Given the description of an element on the screen output the (x, y) to click on. 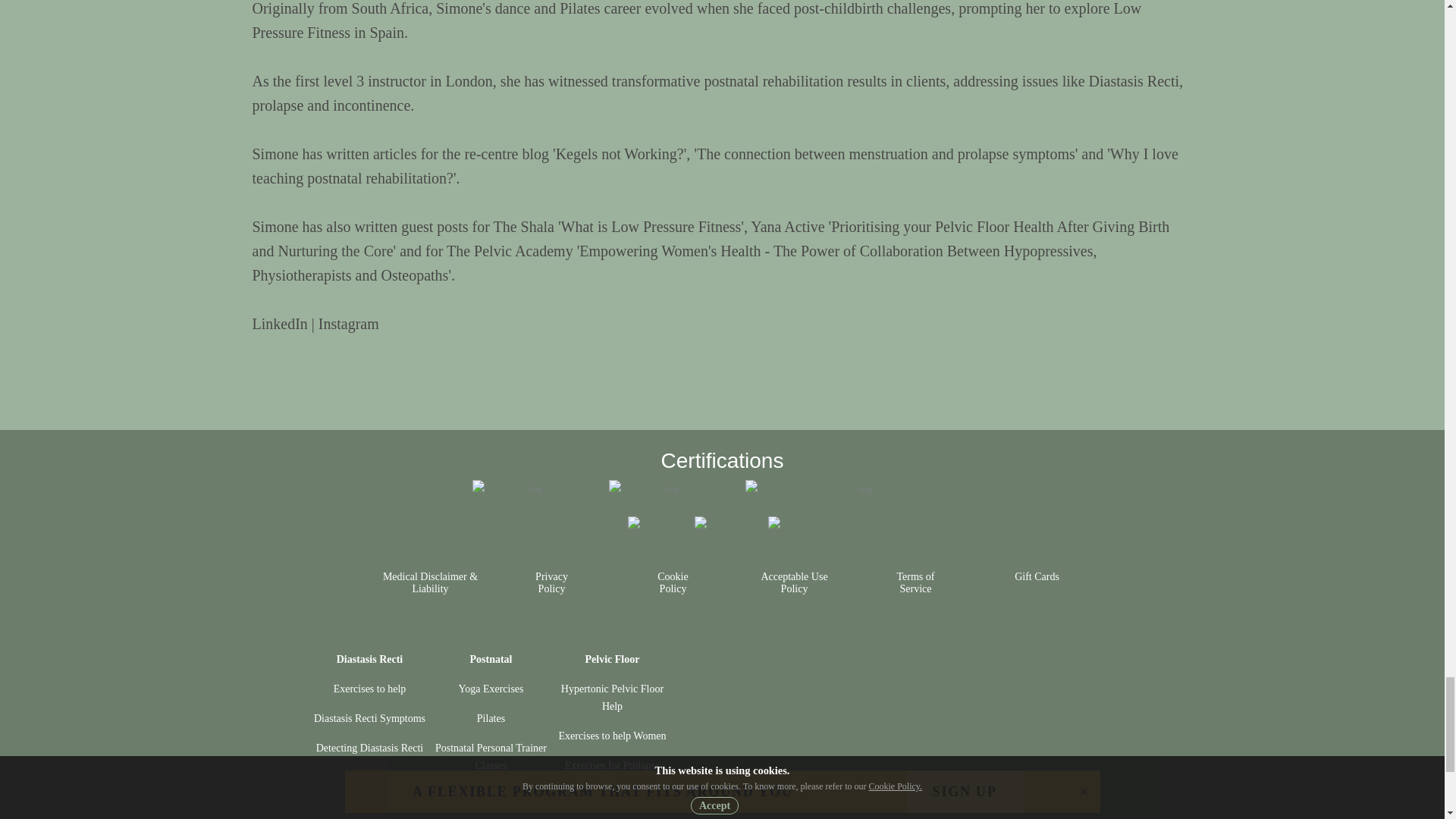
The connection between menstruation and prolapse symptoms (886, 153)
Why I love teaching postnatal rehabilitation? (714, 165)
Kegels not Working? (620, 153)
